Given the description of an element on the screen output the (x, y) to click on. 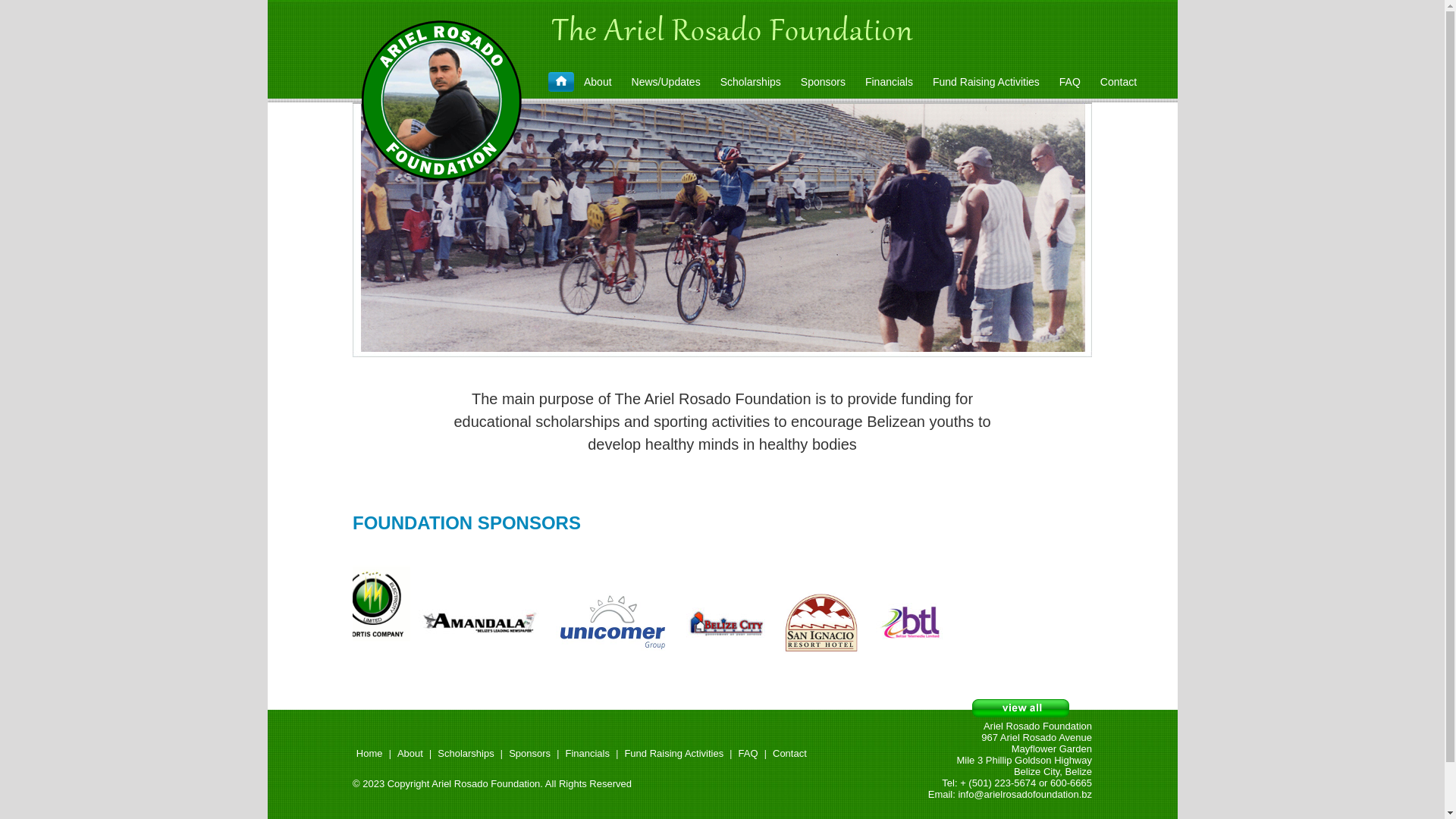
Scholarships Element type: text (750, 81)
Fund Raising Activities Element type: text (673, 753)
About Element type: text (410, 753)
Financials Element type: text (586, 753)
Home Element type: text (369, 753)
FAQ Element type: text (748, 753)
Fund Raising Activities Element type: text (985, 81)
Contact Element type: text (789, 753)
FAQ Element type: text (1069, 81)
Scholarships Element type: text (465, 753)
About Element type: text (597, 81)
Sponsors Element type: text (529, 753)
info@arielrosadofoundation.bz Element type: text (1024, 794)
News/Updates Element type: text (665, 81)
Contact Element type: text (1118, 81)
Financials Element type: text (888, 81)
Sponsors Element type: text (823, 81)
